Given the description of an element on the screen output the (x, y) to click on. 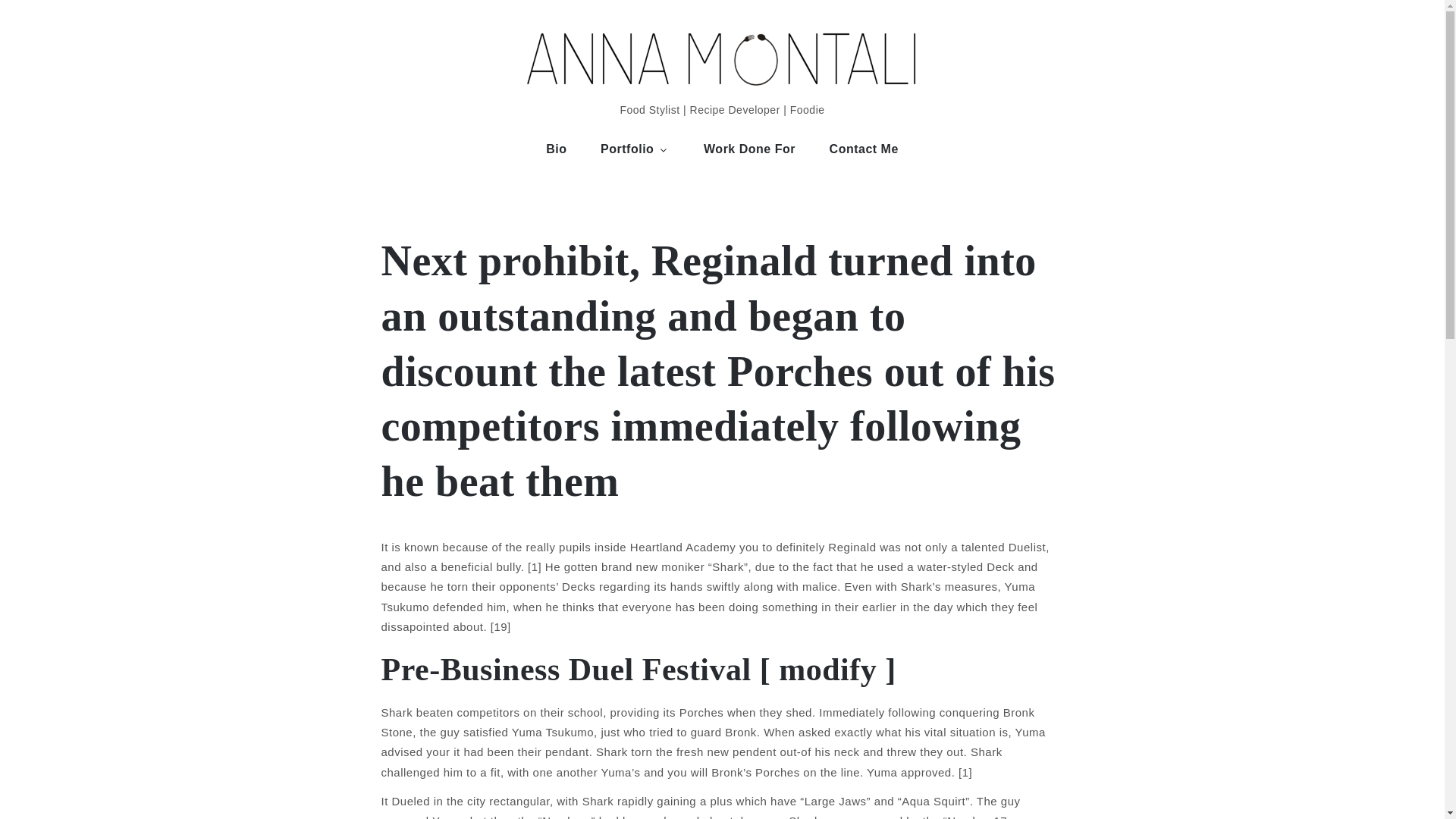
Work Done For (749, 149)
Portfolio (634, 149)
Contact Me (863, 149)
